Given the description of an element on the screen output the (x, y) to click on. 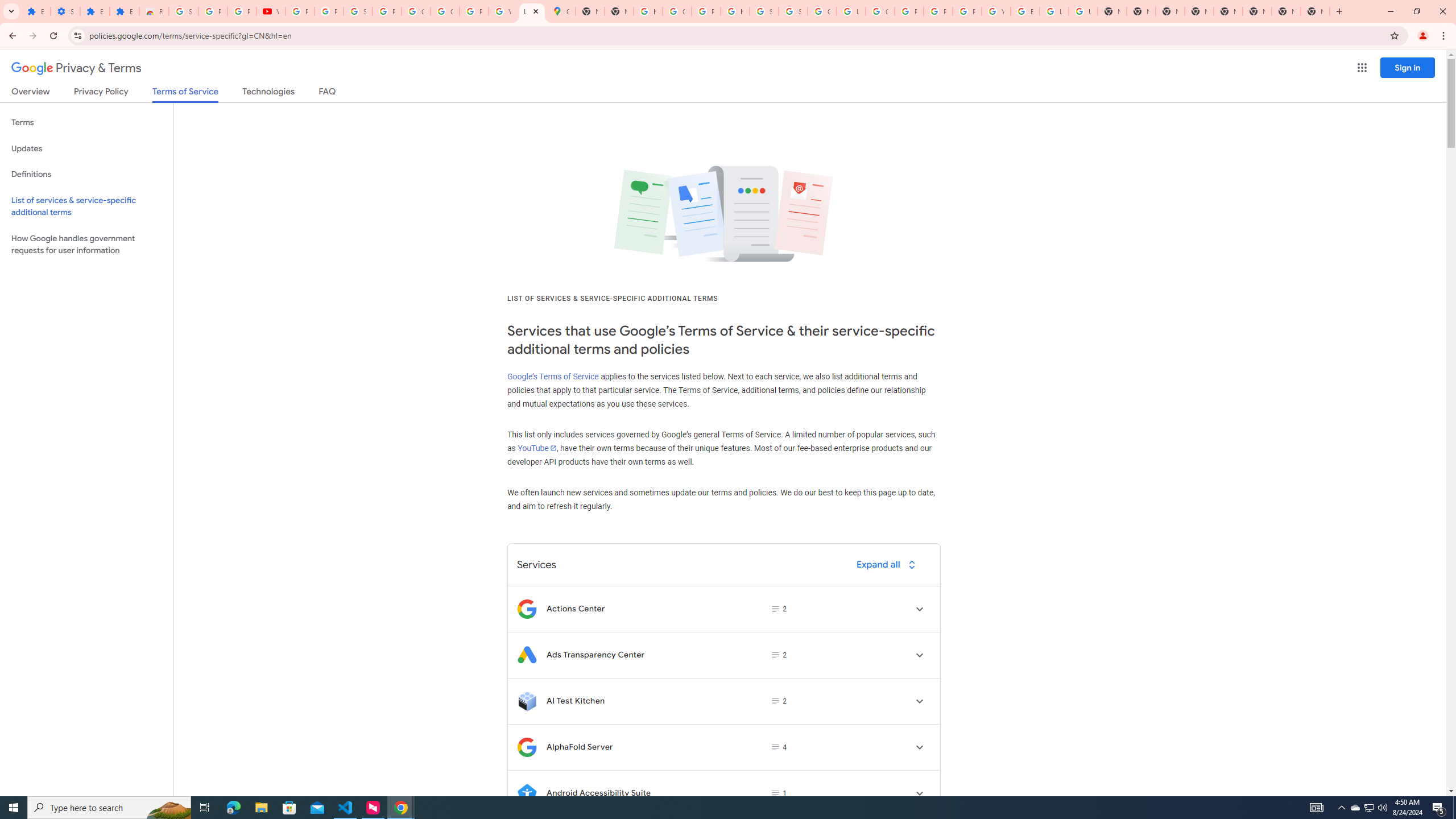
Privacy Help Center - Policies Help (938, 11)
New Tab (1227, 11)
Logo for AlphaFold Server (526, 746)
Extensions (35, 11)
Google Account (415, 11)
Extensions (95, 11)
